Given the description of an element on the screen output the (x, y) to click on. 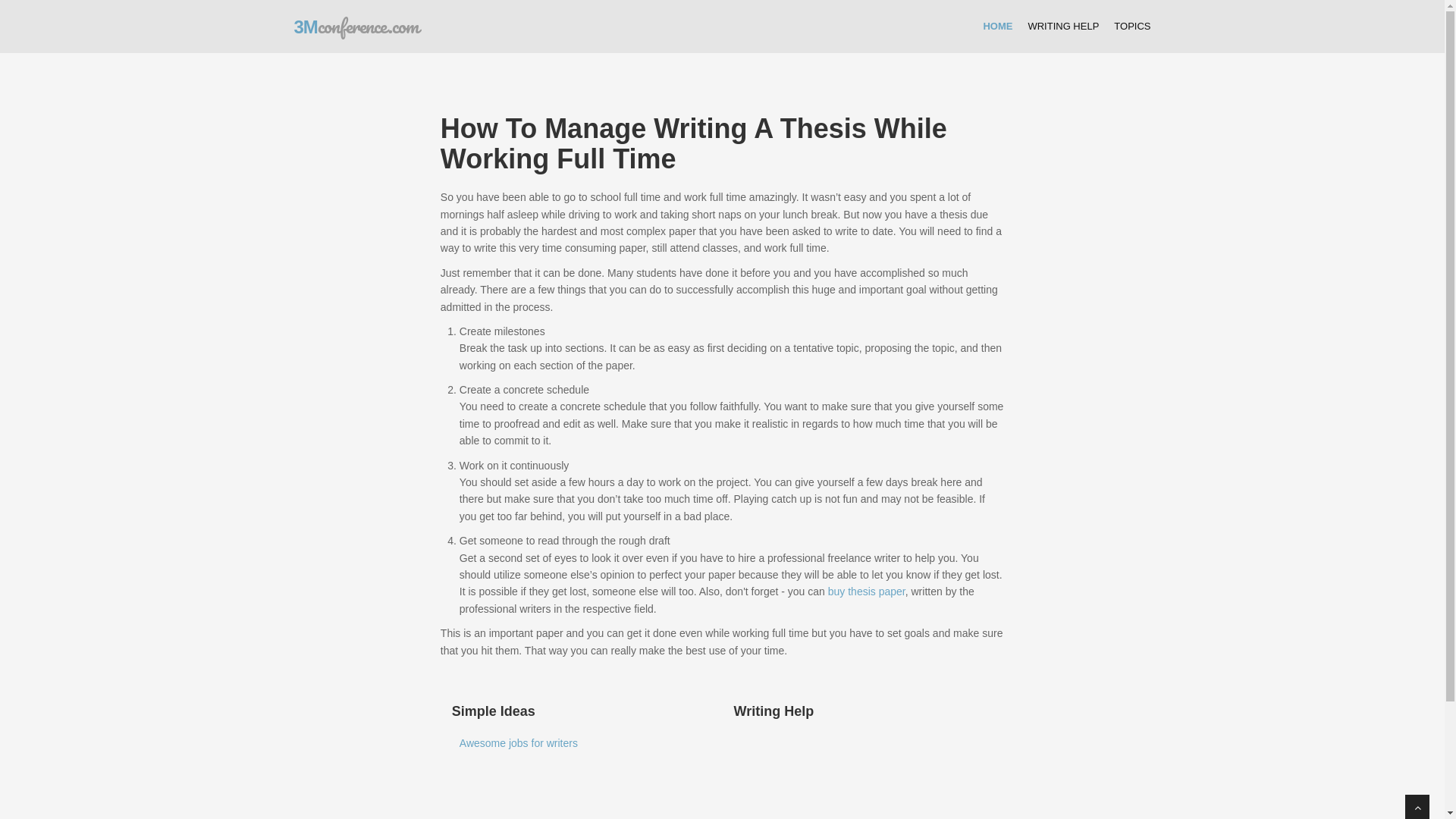
Awesome jobs for writers Element type: text (518, 743)
3Mconference.com Element type: text (349, 23)
WRITING HELP Element type: text (1062, 26)
buy thesis paper Element type: text (866, 591)
HOME Element type: text (997, 26)
TOPICS Element type: text (1131, 26)
